Given the description of an element on the screen output the (x, y) to click on. 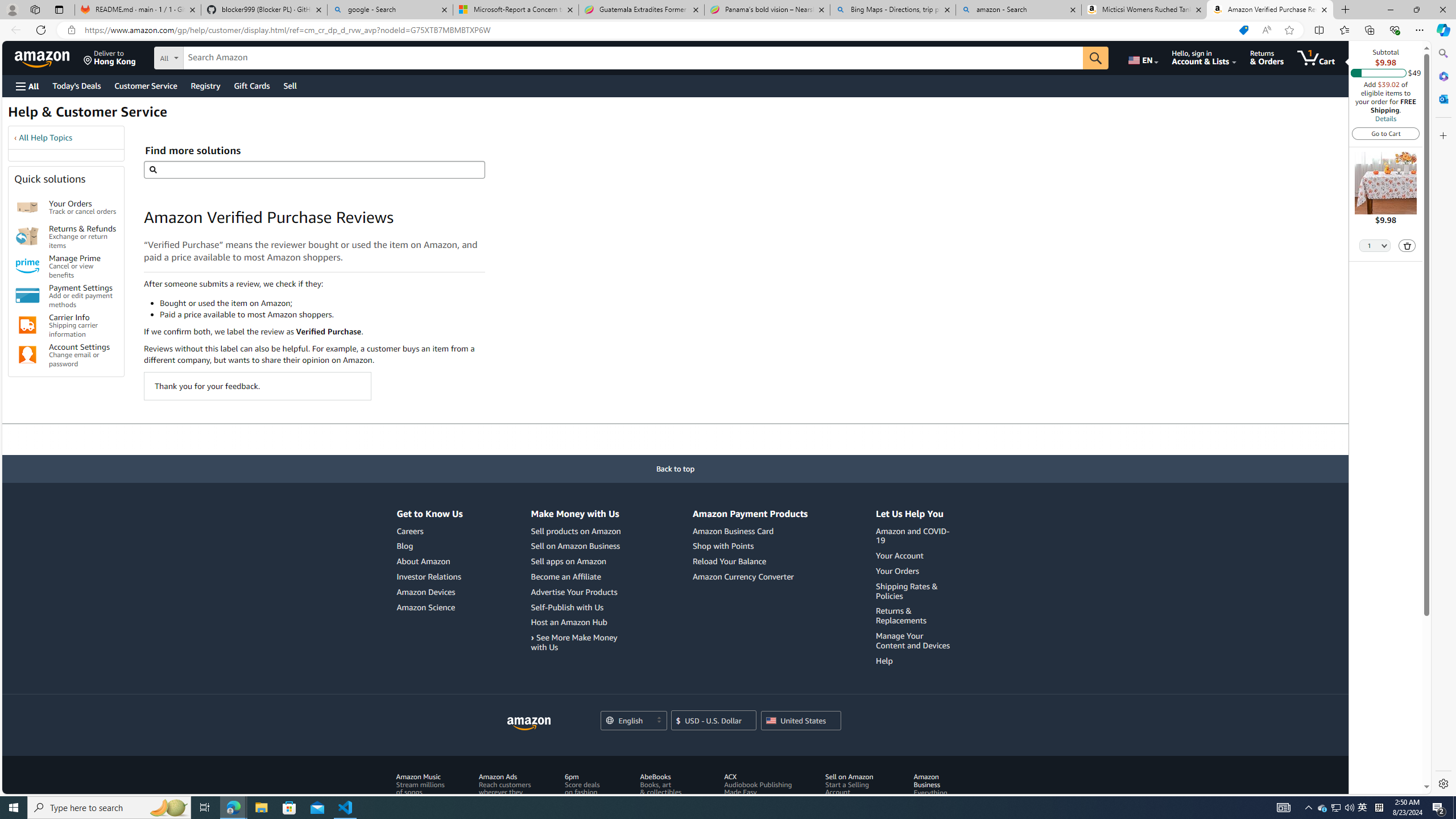
Sell on Amazon Start a Selling Account (855, 784)
Sell on Amazon Business (574, 546)
Manage Prime Cancel or view benefits (82, 266)
Your Orders (27, 207)
Search Amazon (633, 57)
Become an Affiliate (576, 576)
1 item in cart (1315, 57)
Today's Deals (76, 85)
